Given the description of an element on the screen output the (x, y) to click on. 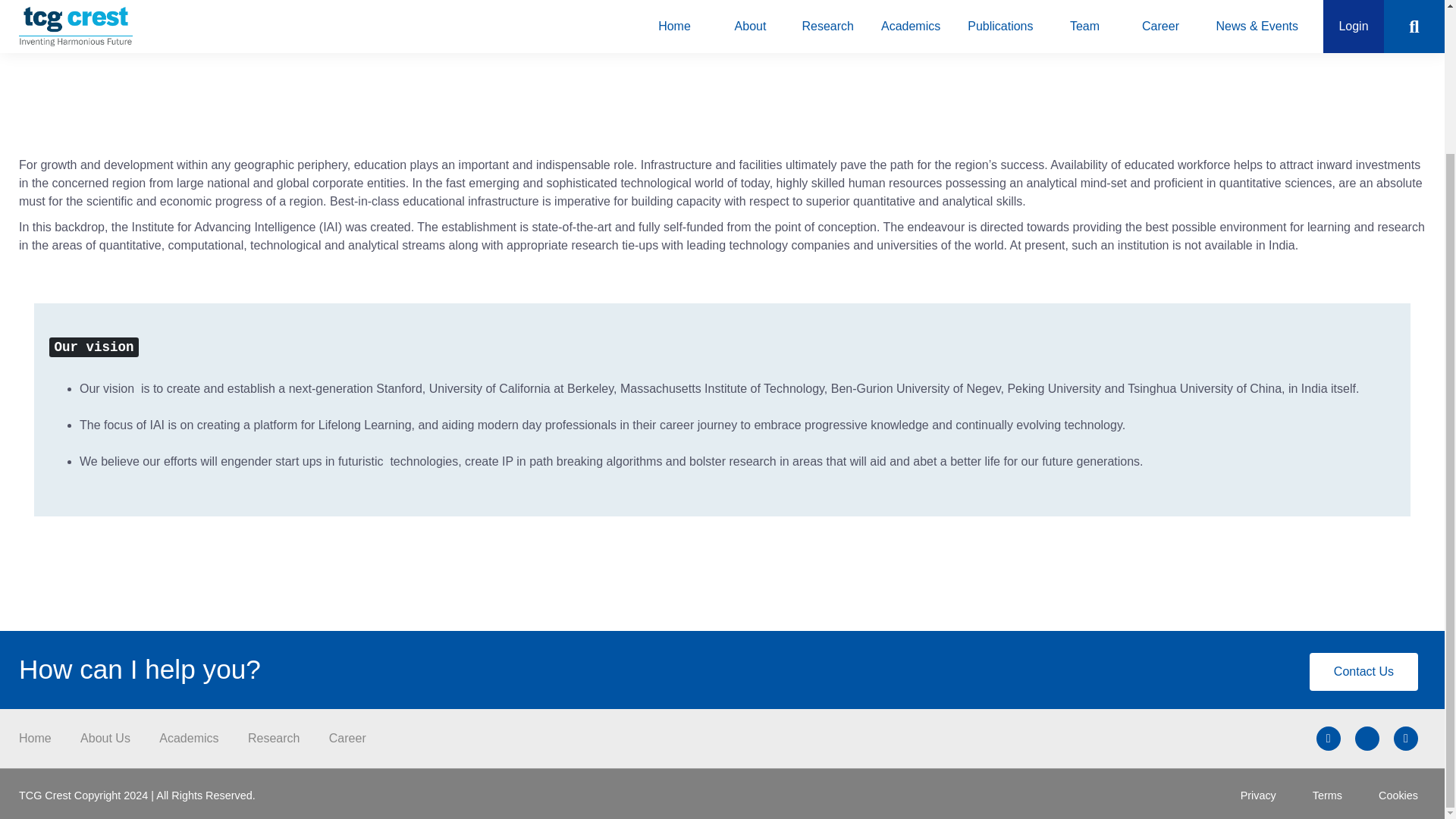
Career (347, 738)
Home (34, 738)
Contact Us (1363, 671)
About Us (68, 40)
About Us (105, 738)
Research (273, 738)
Academics (188, 738)
